Given the description of an element on the screen output the (x, y) to click on. 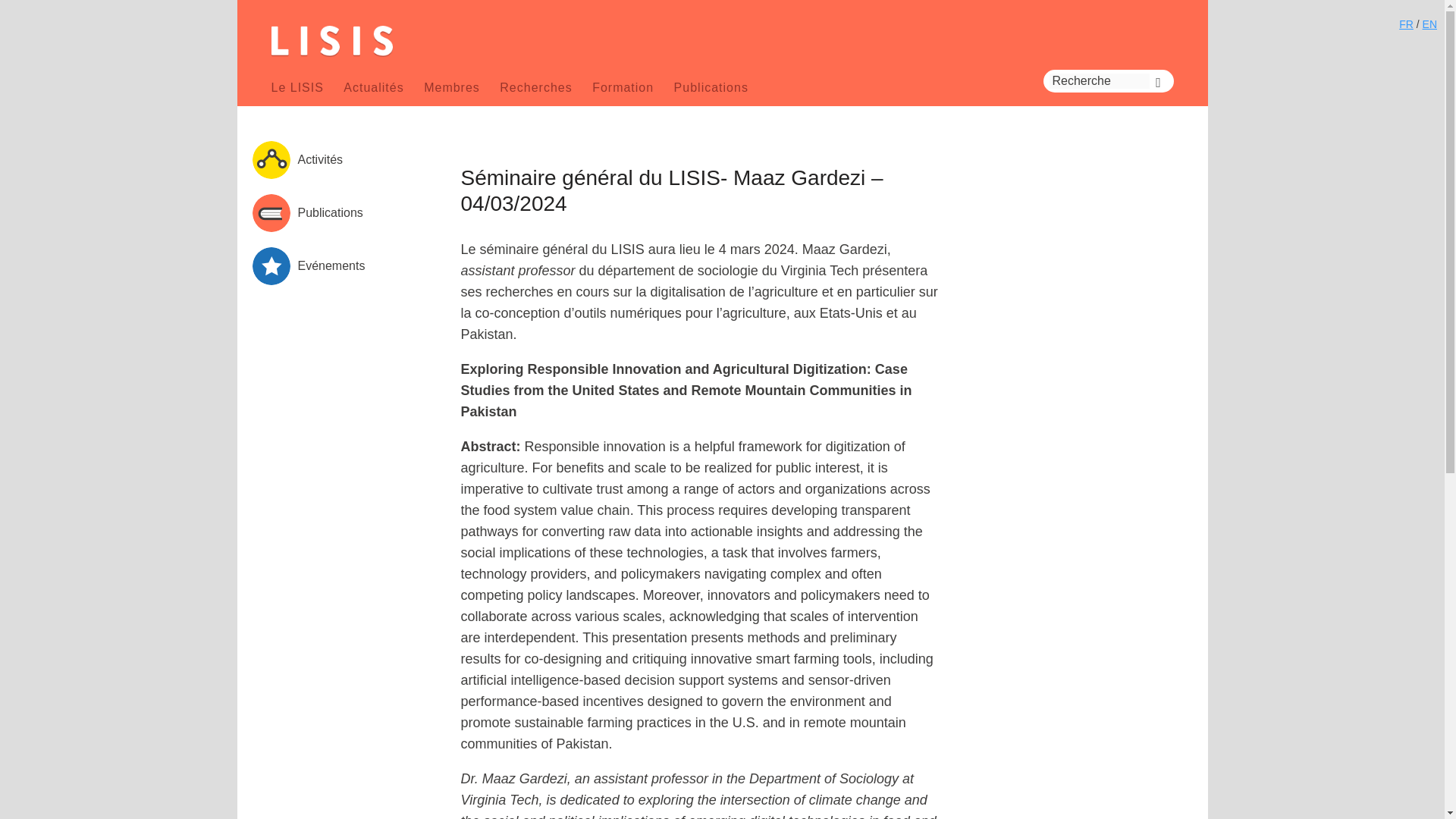
Publications (329, 212)
Publications (711, 87)
Membres (451, 87)
EN (1429, 24)
Formation (622, 87)
Le LISIS (296, 87)
Recherches (535, 87)
FR (1406, 24)
